Given the description of an element on the screen output the (x, y) to click on. 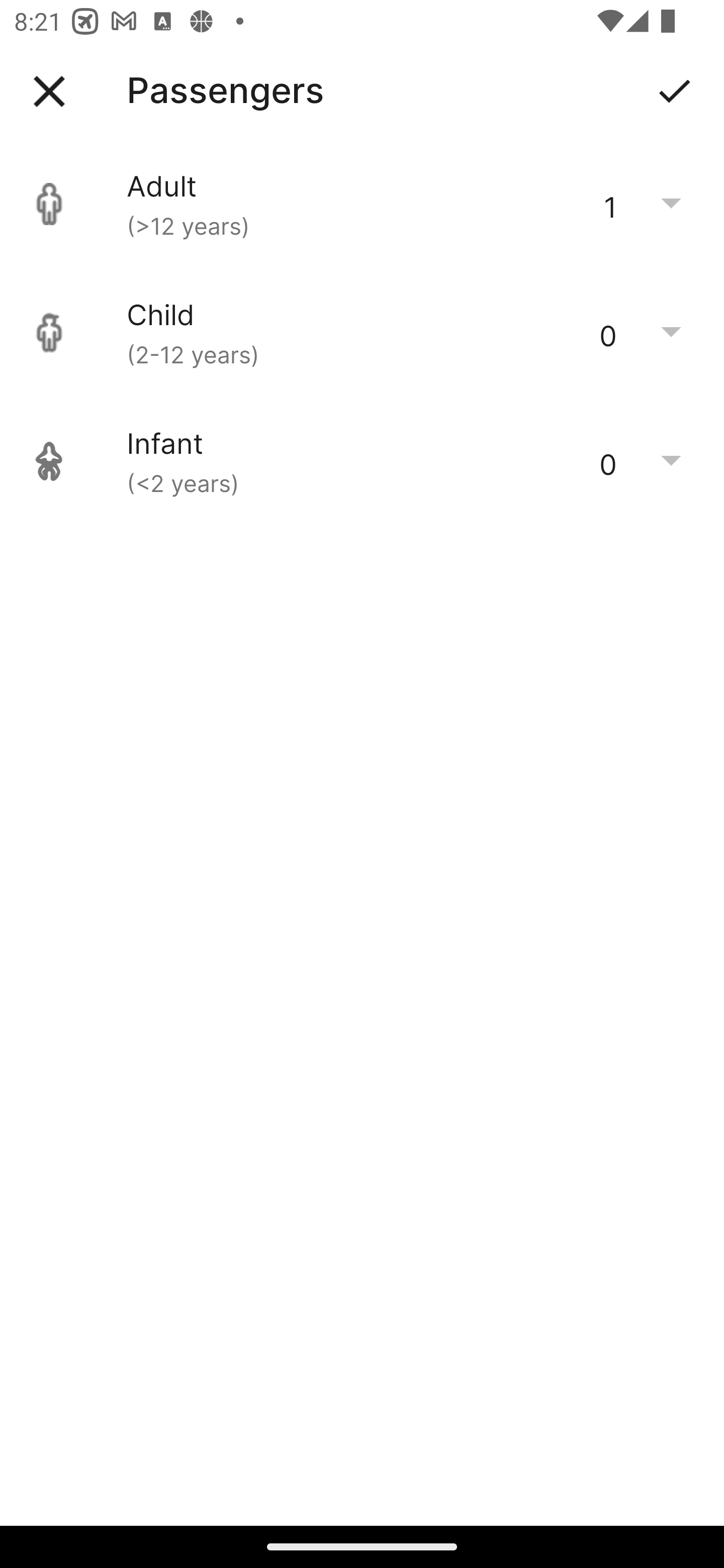
Adult (>12 years) 1 (362, 204)
Child (2-12 years) 0 (362, 332)
Infant (<2 years) 0 (362, 461)
